Given the description of an element on the screen output the (x, y) to click on. 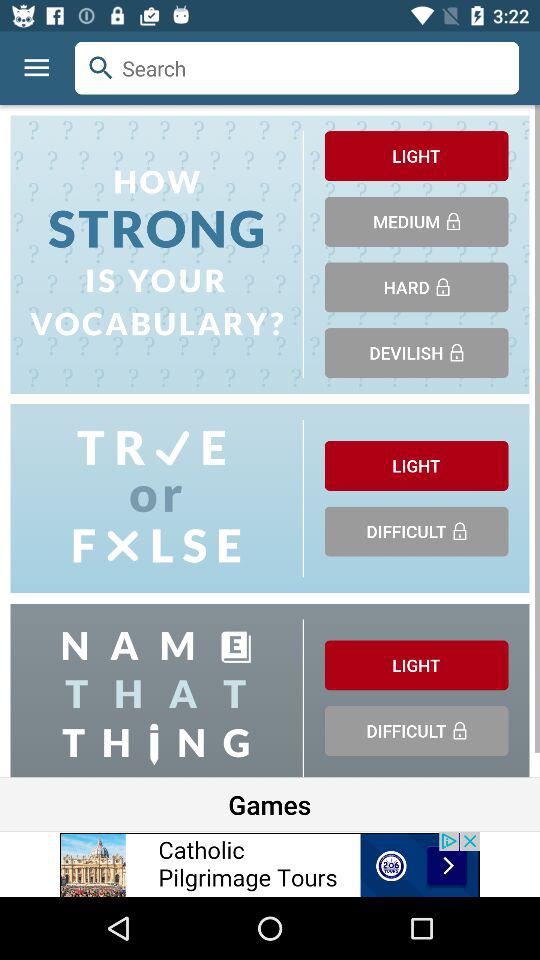
advertisements image (270, 864)
